Given the description of an element on the screen output the (x, y) to click on. 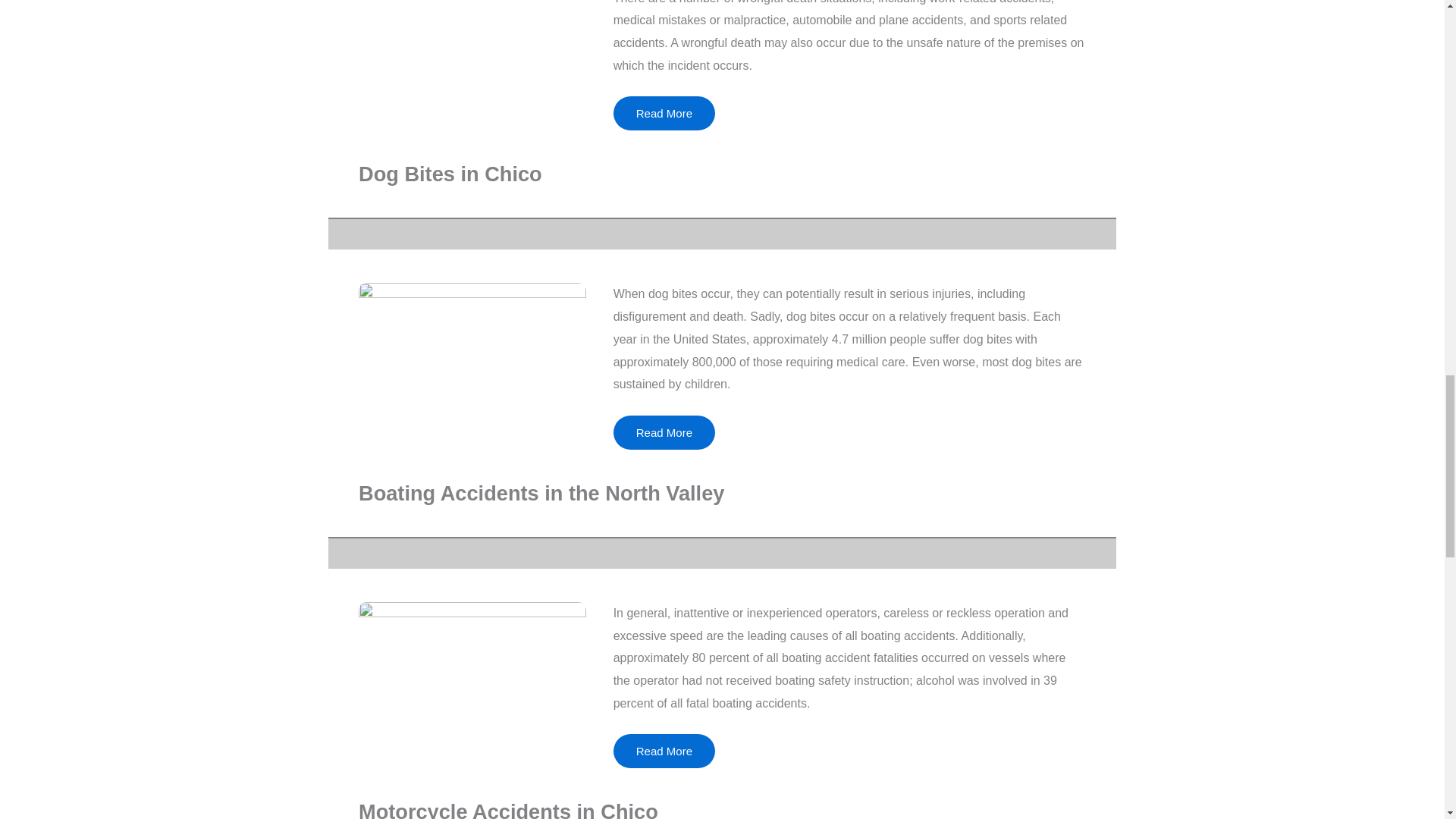
Read More (663, 750)
Read More (663, 432)
Read More (663, 113)
